Given the description of an element on the screen output the (x, y) to click on. 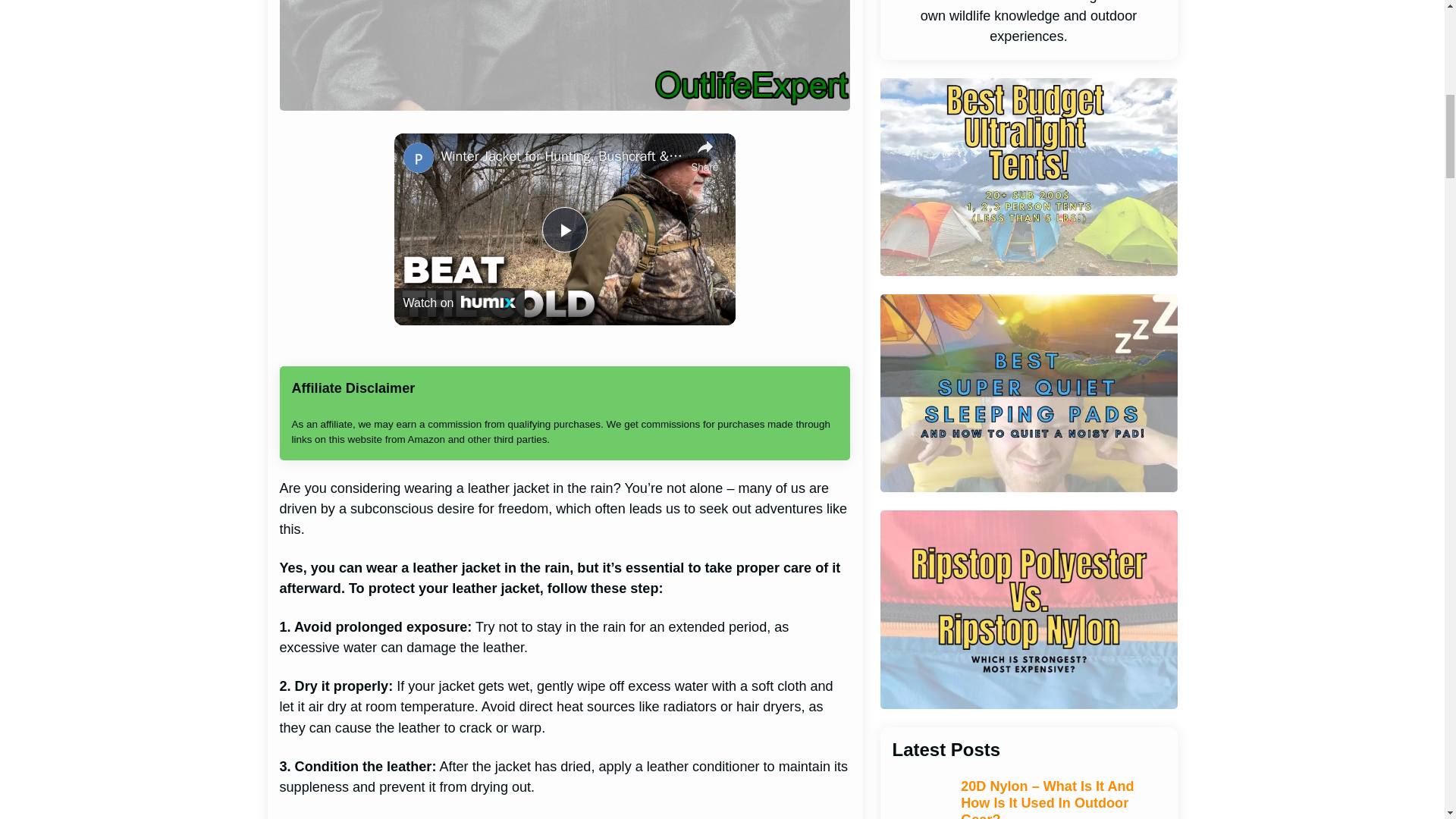
Share (705, 153)
Watch on (459, 302)
Play Video (563, 229)
share (705, 153)
Play Video (563, 229)
